Given the description of an element on the screen output the (x, y) to click on. 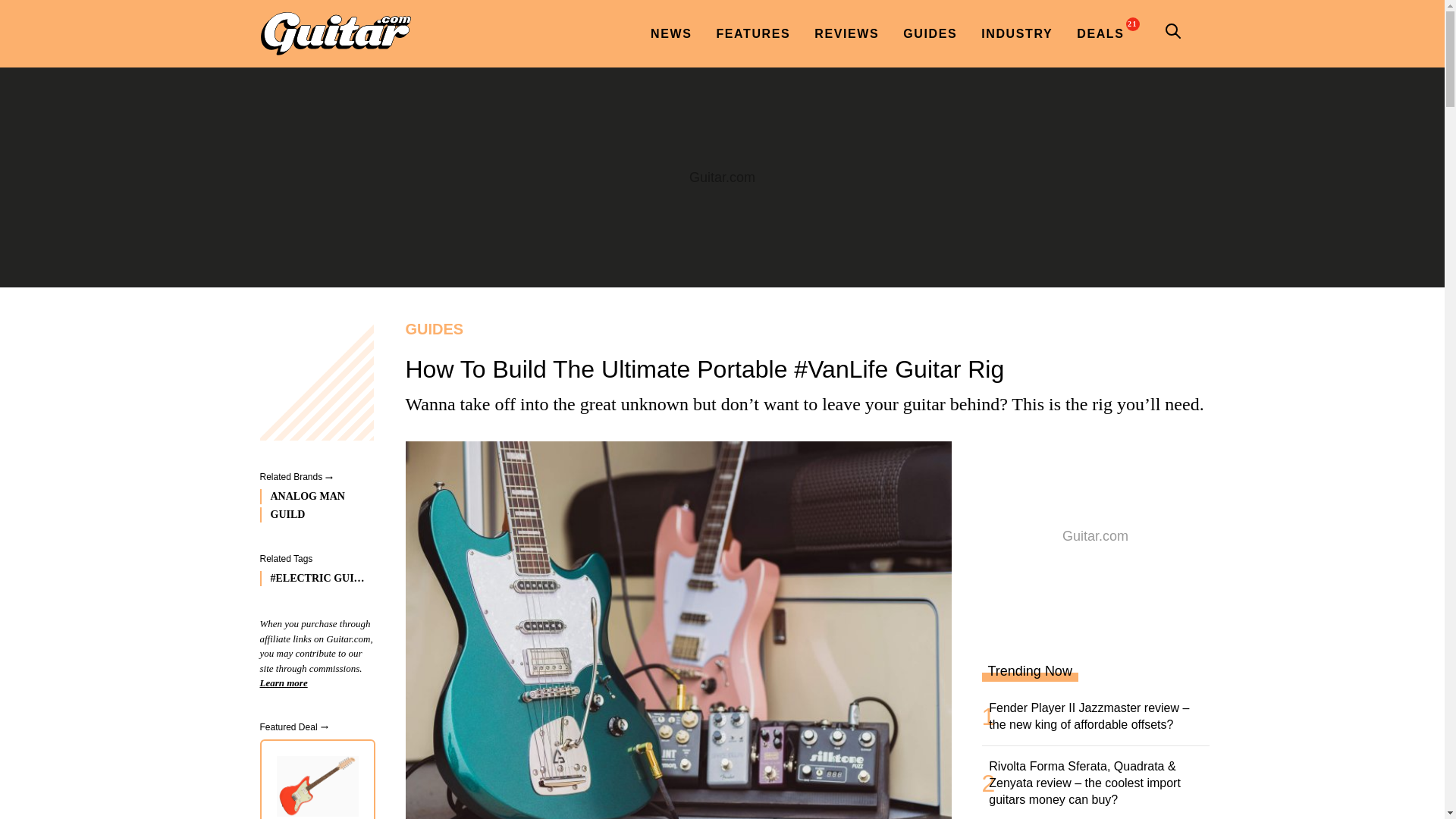
FEATURES (753, 33)
Electric Guitars (312, 578)
Guides (801, 328)
ANALOG MAN (312, 496)
Guild (312, 514)
GUIDES (929, 33)
Analog Man (312, 496)
Learn more (283, 682)
REVIEWS (846, 33)
NEWS (671, 33)
